Given the description of an element on the screen output the (x, y) to click on. 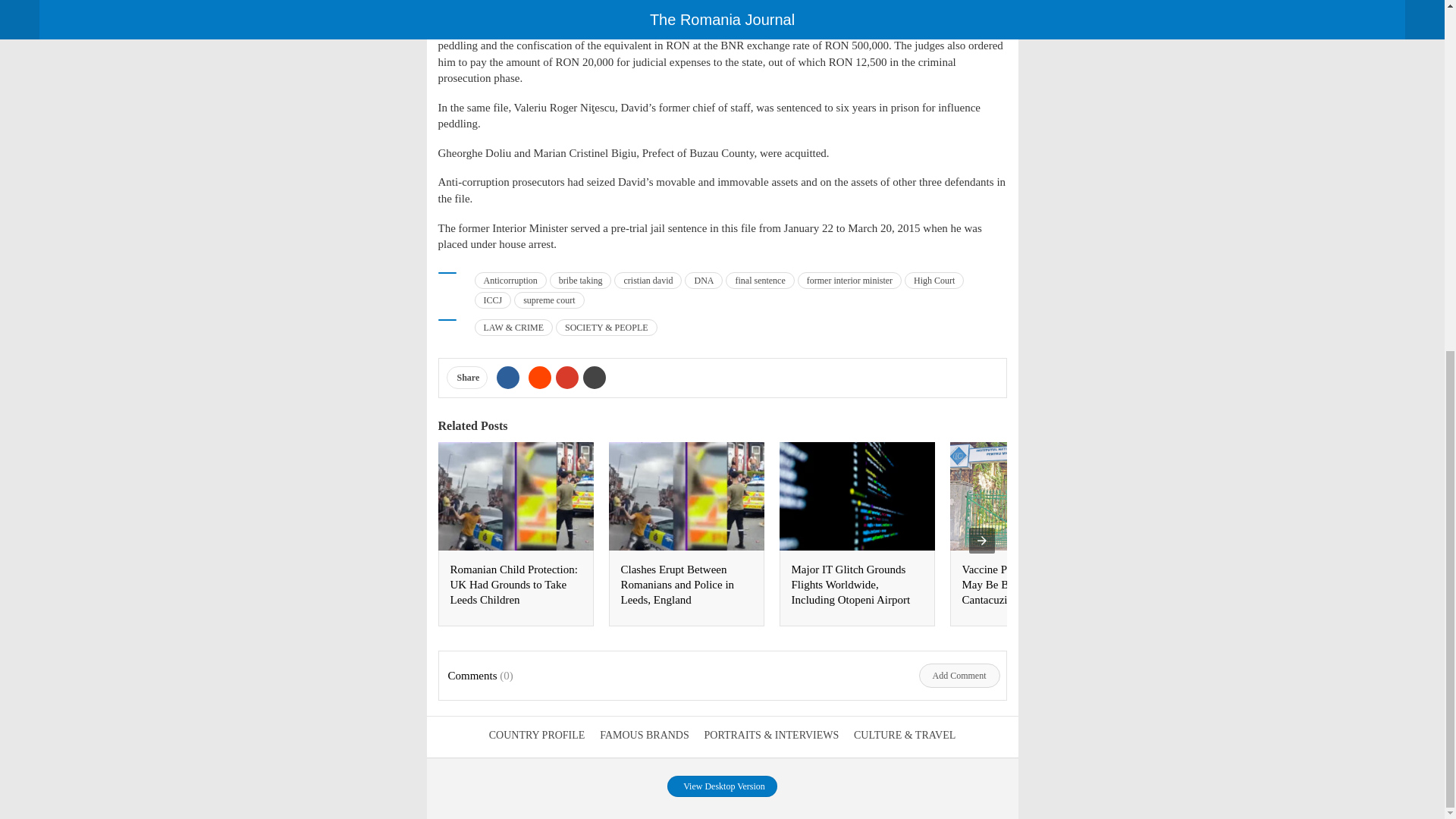
FAMOUS BRANDS (643, 735)
Anticorruption (510, 280)
supreme court (548, 299)
bribe taking (580, 280)
Clashes Erupt Between Romanians and Police in Leeds, England (676, 584)
High Court (933, 280)
former interior minister (849, 280)
final sentence (759, 280)
Online Catalog for Adoptable Stray Dogs in Bucharest (1189, 584)
DNA (703, 280)
Overcoming obesity is more difficult than most think (1367, 576)
Add Comment (959, 675)
